Given the description of an element on the screen output the (x, y) to click on. 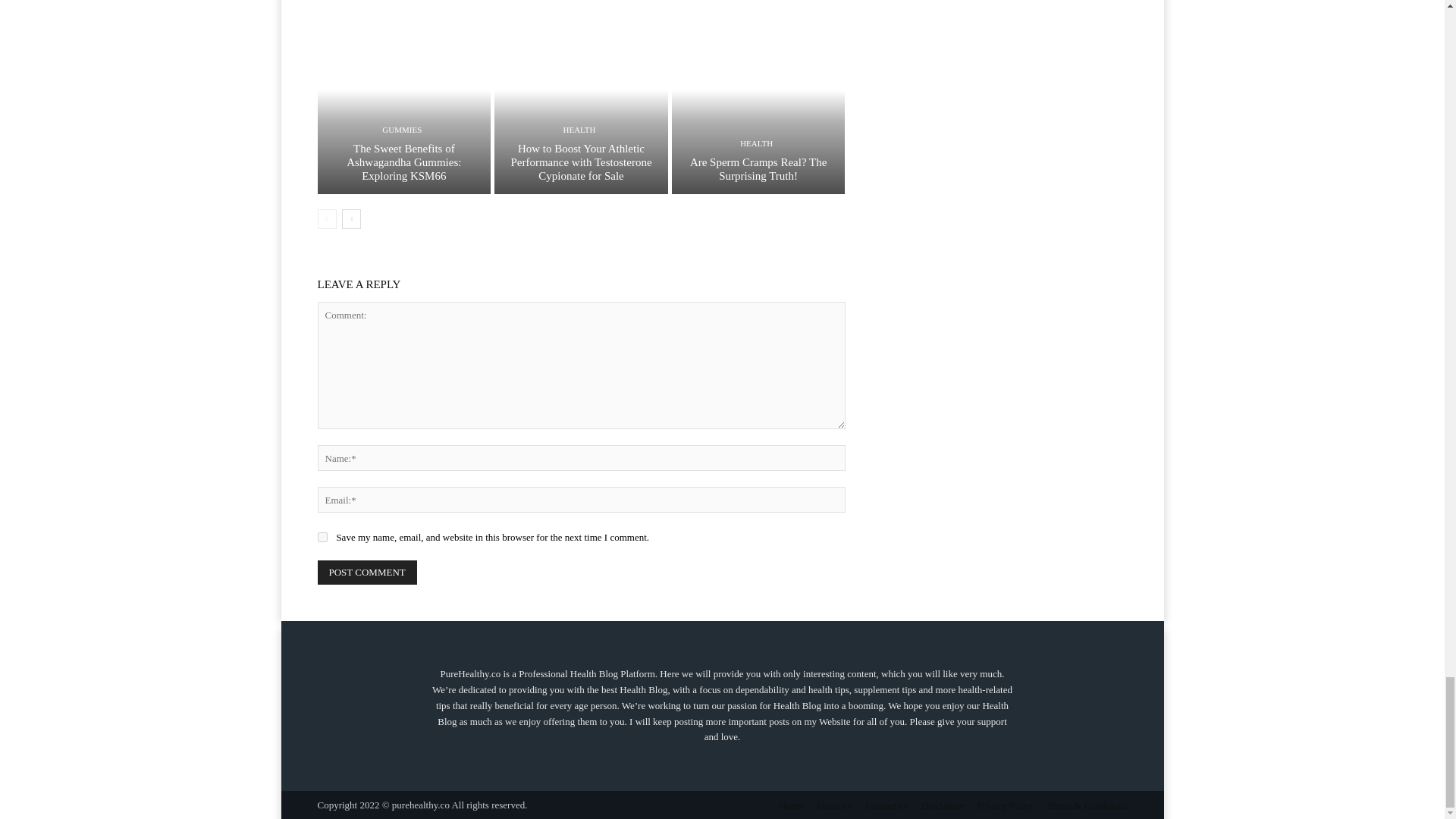
Post Comment (366, 572)
yes (321, 537)
